Given the description of an element on the screen output the (x, y) to click on. 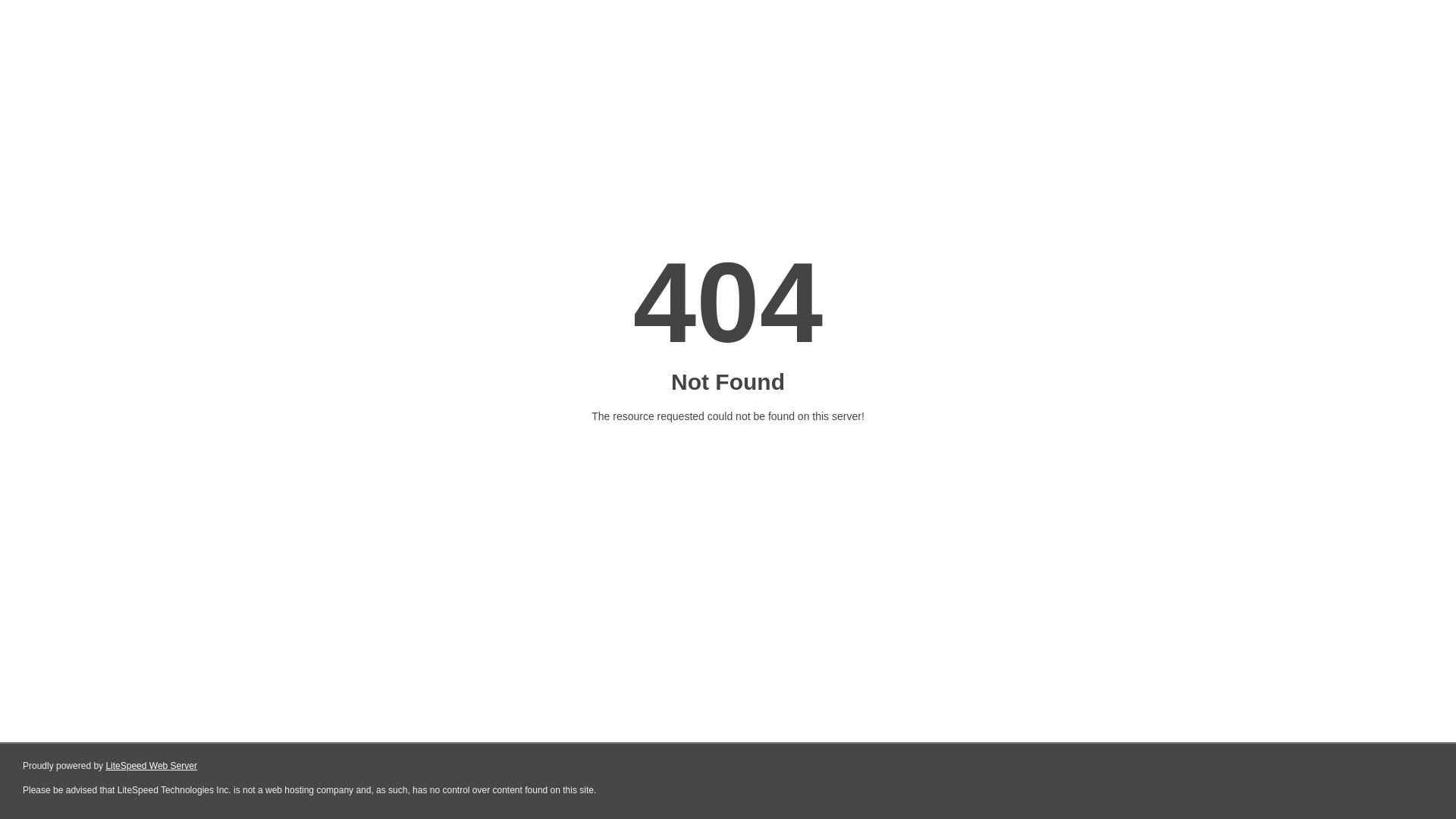
LiteSpeed Web Server Element type: text (151, 765)
